Given the description of an element on the screen output the (x, y) to click on. 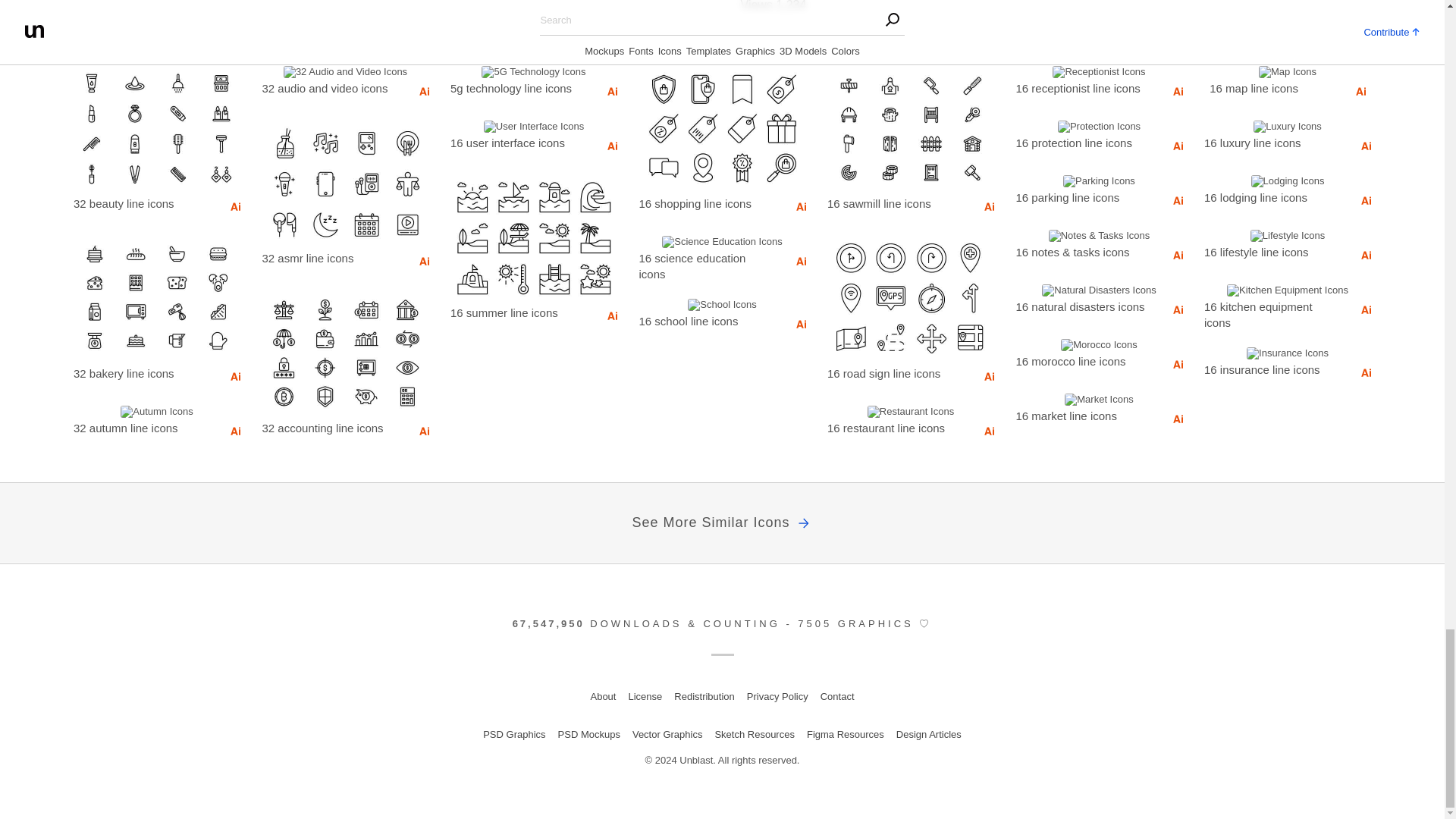
16 sawmill line icons (893, 202)
16 science education icons (705, 265)
32 accounting line icons (329, 427)
16 summer line icons (516, 312)
32 bakery line icons (140, 373)
32 beauty line icons (140, 202)
32 audio and video icons (329, 87)
16 shopping line icons (705, 202)
16 school line icons (705, 320)
32 autumn line icons (140, 427)
16 user interface icons (516, 142)
5g technology line icons (516, 87)
32 asmr line icons (329, 257)
